Given the description of an element on the screen output the (x, y) to click on. 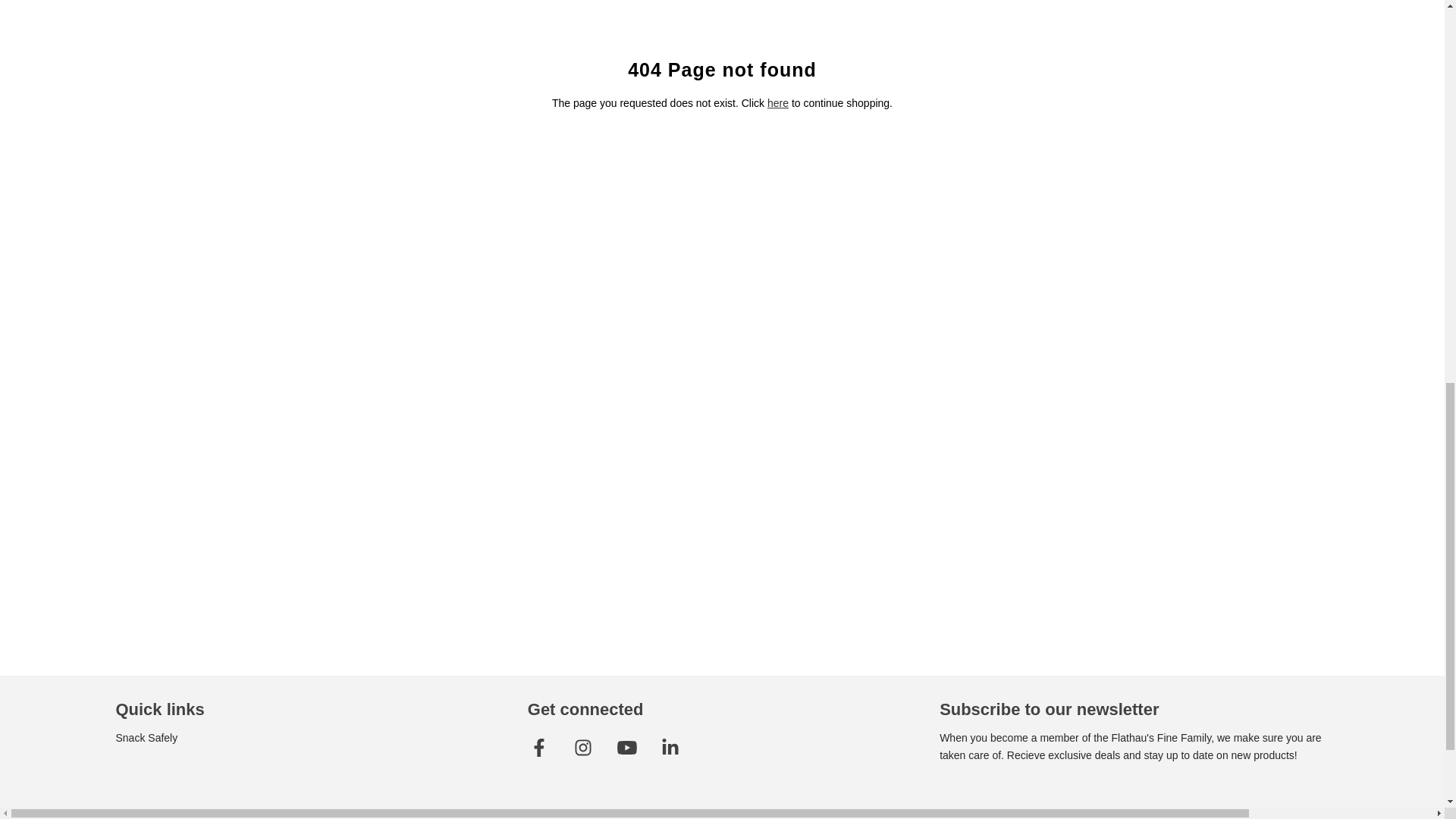
here (778, 102)
Snack Safely (146, 737)
